Given the description of an element on the screen output the (x, y) to click on. 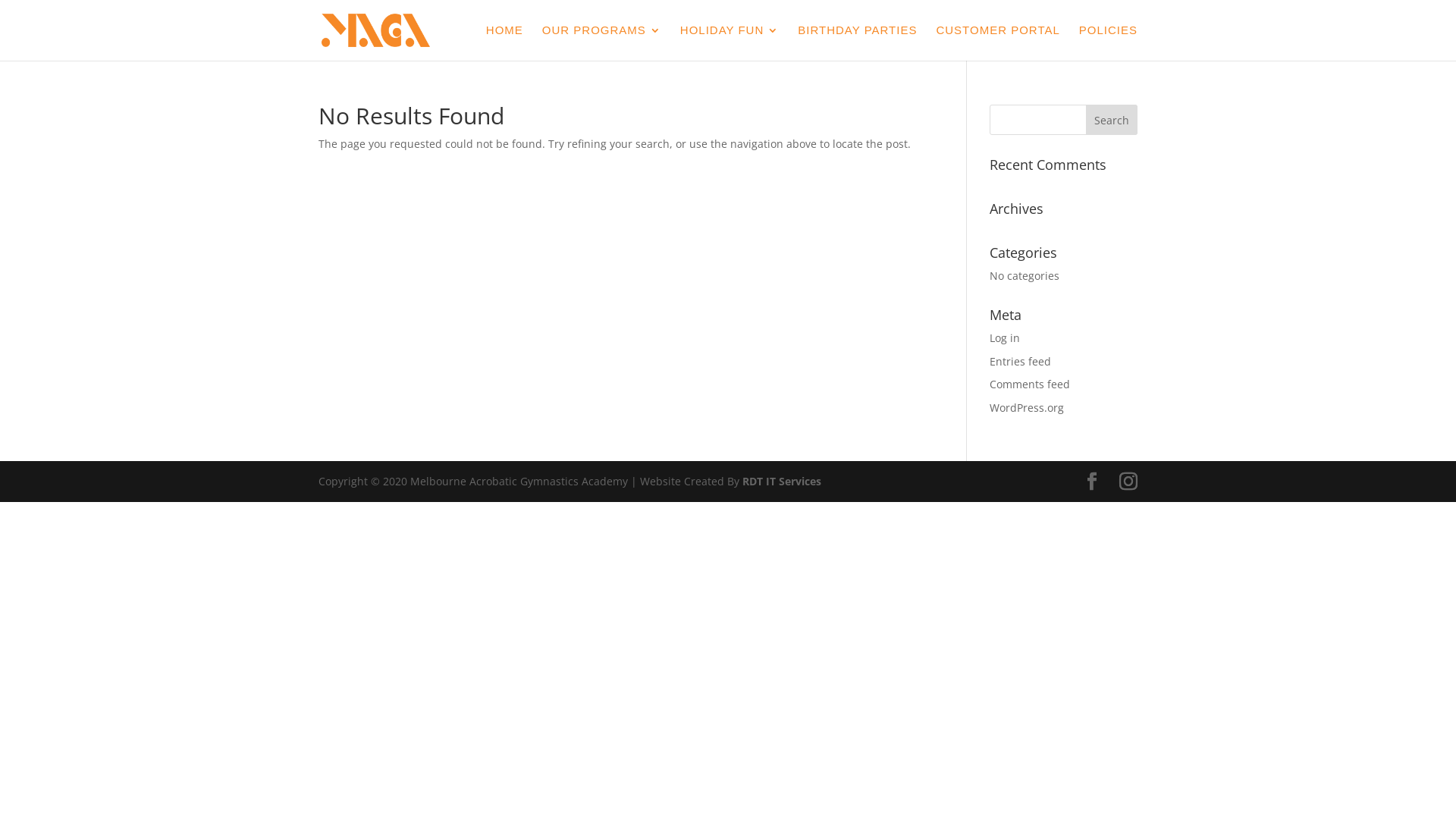
WordPress.org Element type: text (1026, 407)
HOLIDAY FUN Element type: text (729, 42)
BIRTHDAY PARTIES Element type: text (856, 42)
CUSTOMER PORTAL Element type: text (997, 42)
Search Element type: text (1111, 119)
POLICIES Element type: text (1108, 42)
Entries feed Element type: text (1020, 361)
RDT IT Services Element type: text (781, 480)
OUR PROGRAMS Element type: text (601, 42)
HOME Element type: text (504, 42)
Log in Element type: text (1004, 337)
Comments feed Element type: text (1029, 383)
